Given the description of an element on the screen output the (x, y) to click on. 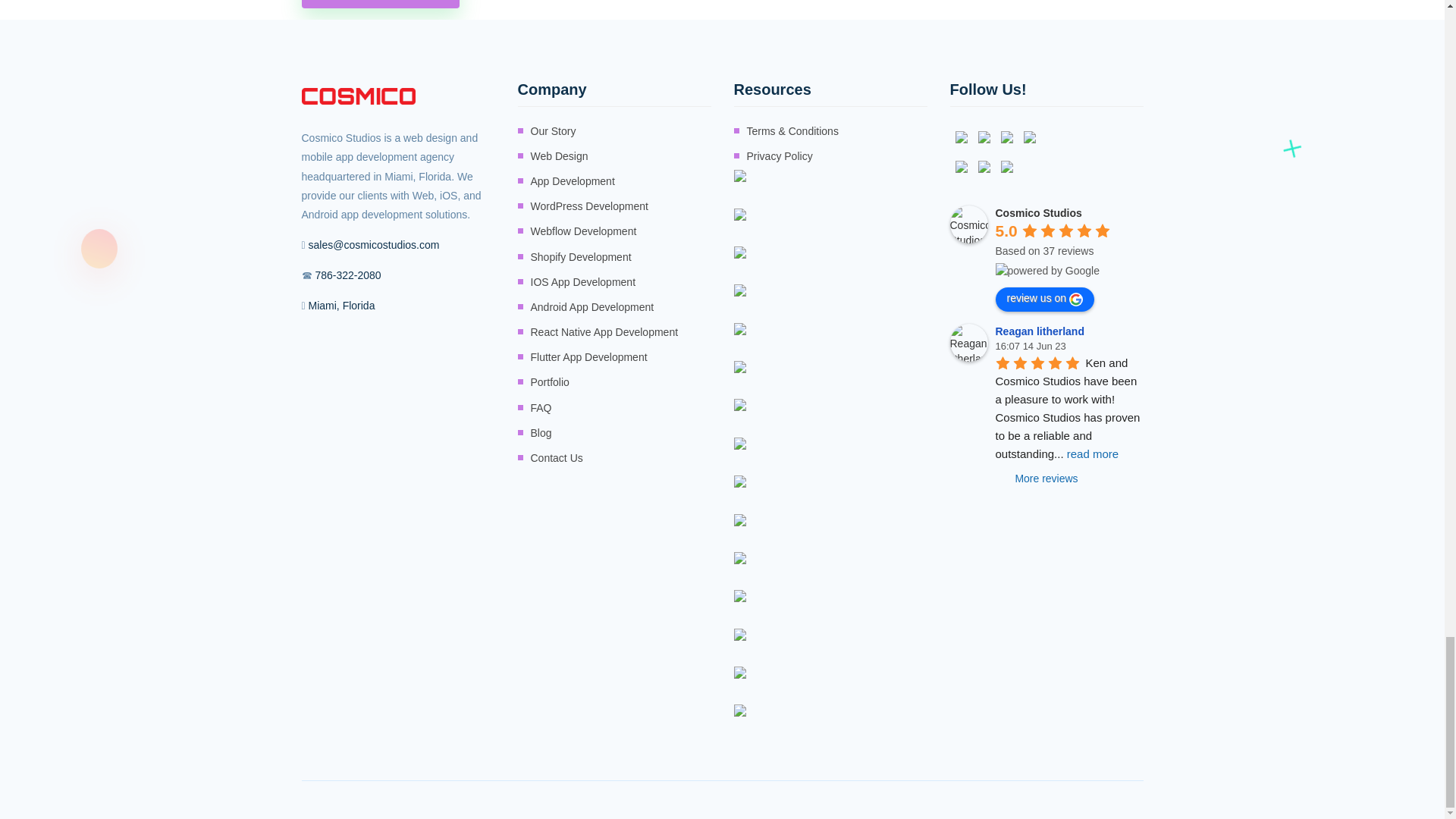
IOS App Development (583, 281)
Shopify Development (581, 257)
Reagan litherland (968, 342)
App Development (572, 180)
Cosmico Studios (968, 224)
Privacy Policy (778, 156)
Our Story (553, 131)
Web Design (559, 156)
FAQ (541, 407)
Webflow Development (584, 230)
Portfolio (550, 382)
786-322-2080 (347, 275)
Miami, Florida (341, 305)
WordPress Development (589, 206)
